Given the description of an element on the screen output the (x, y) to click on. 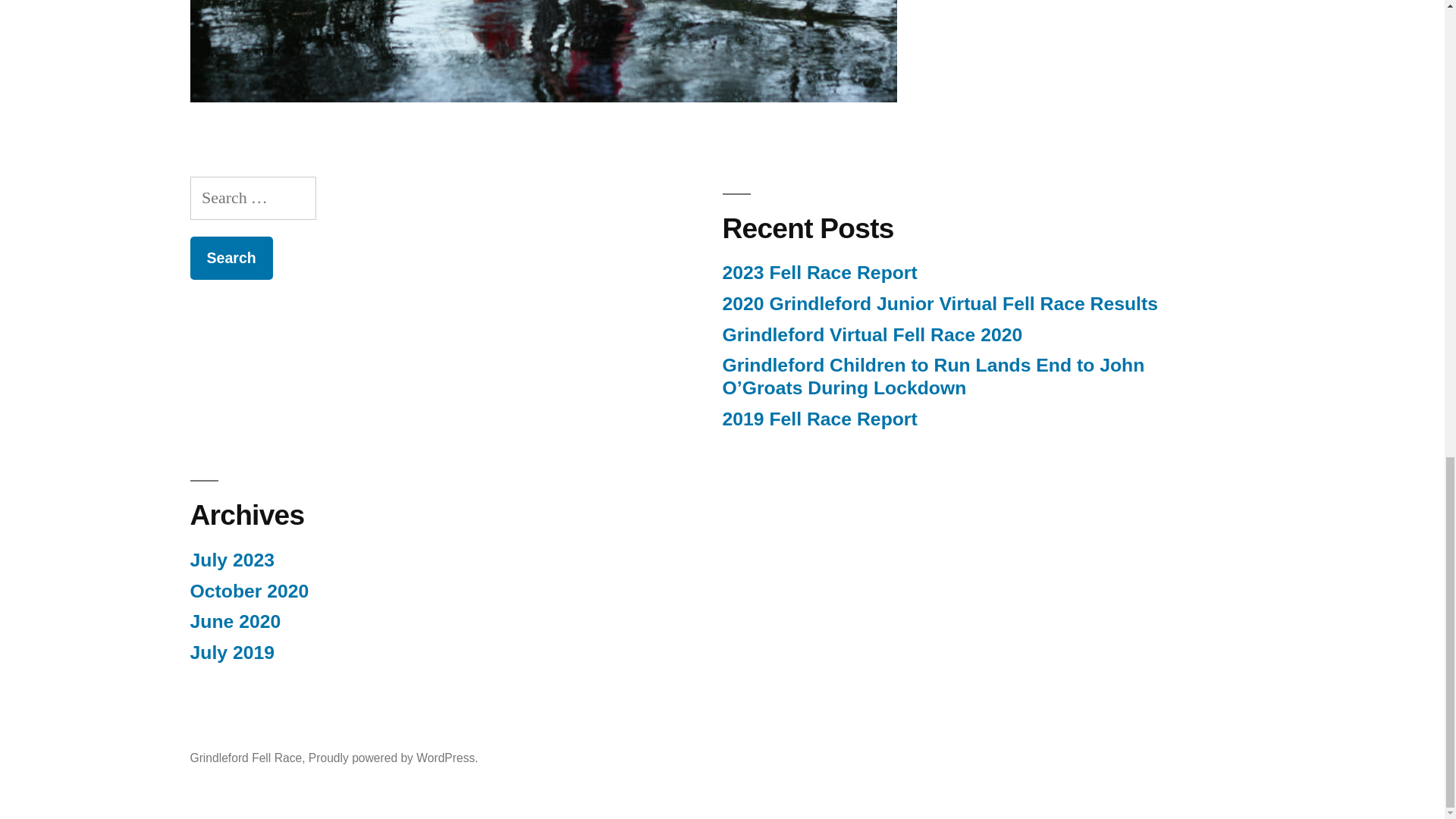
Search (230, 258)
October 2020 (248, 590)
Search (230, 258)
Search (230, 258)
Proudly powered by WordPress. (393, 757)
July 2019 (231, 652)
June 2020 (235, 620)
Grindleford Fell Race (245, 757)
2020 Grindleford Junior Virtual Fell Race Results (939, 303)
Grindleford Virtual Fell Race 2020 (872, 334)
2023 Fell Race Report (819, 272)
July 2023 (231, 559)
2019 Fell Race Report (819, 418)
